Given the description of an element on the screen output the (x, y) to click on. 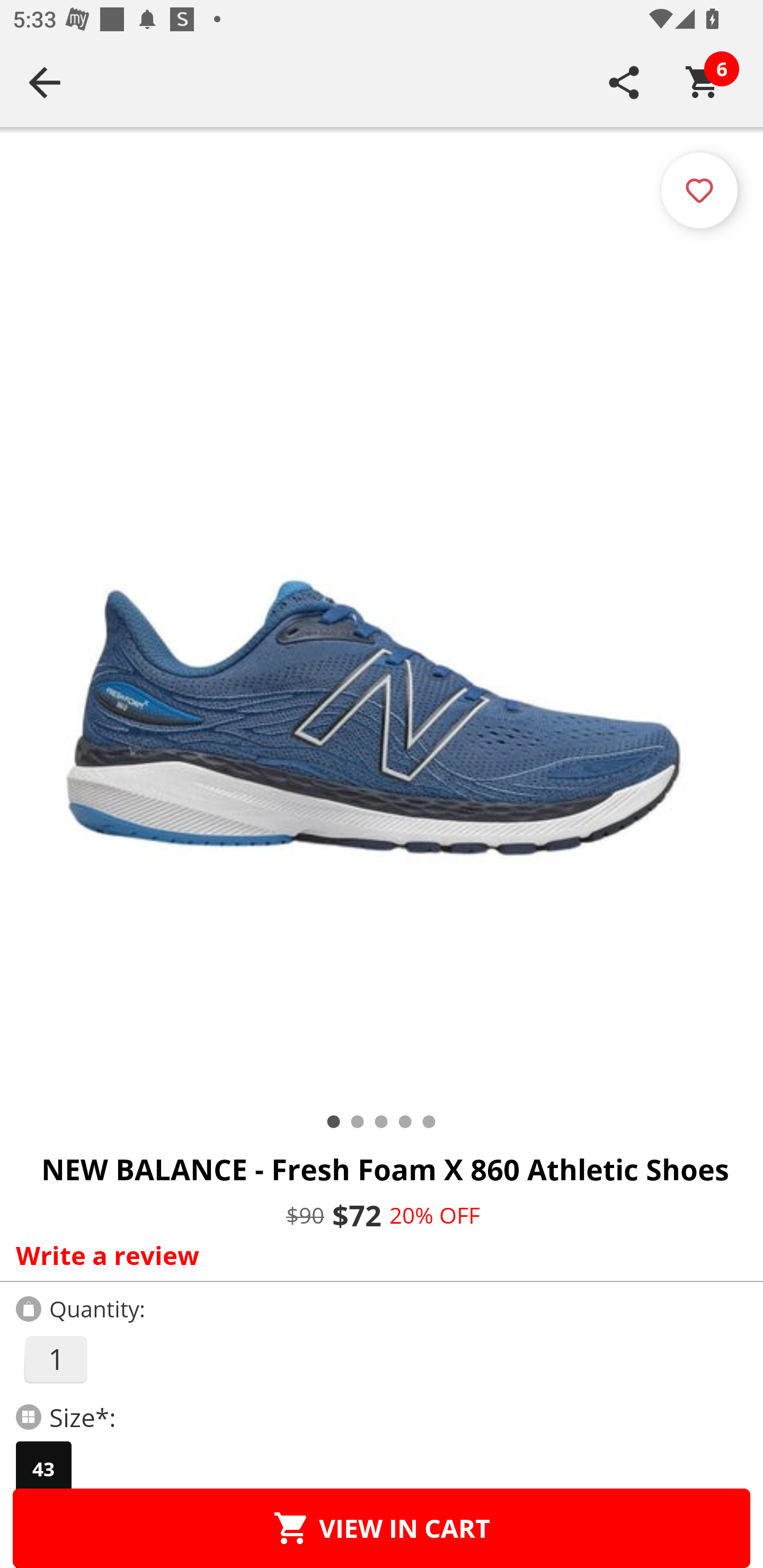
Navigate up (44, 82)
SHARE (623, 82)
Cart (703, 81)
Write a review (377, 1255)
1 (55, 1358)
43 (43, 1468)
VIEW IN CART (381, 1528)
